Given the description of an element on the screen output the (x, y) to click on. 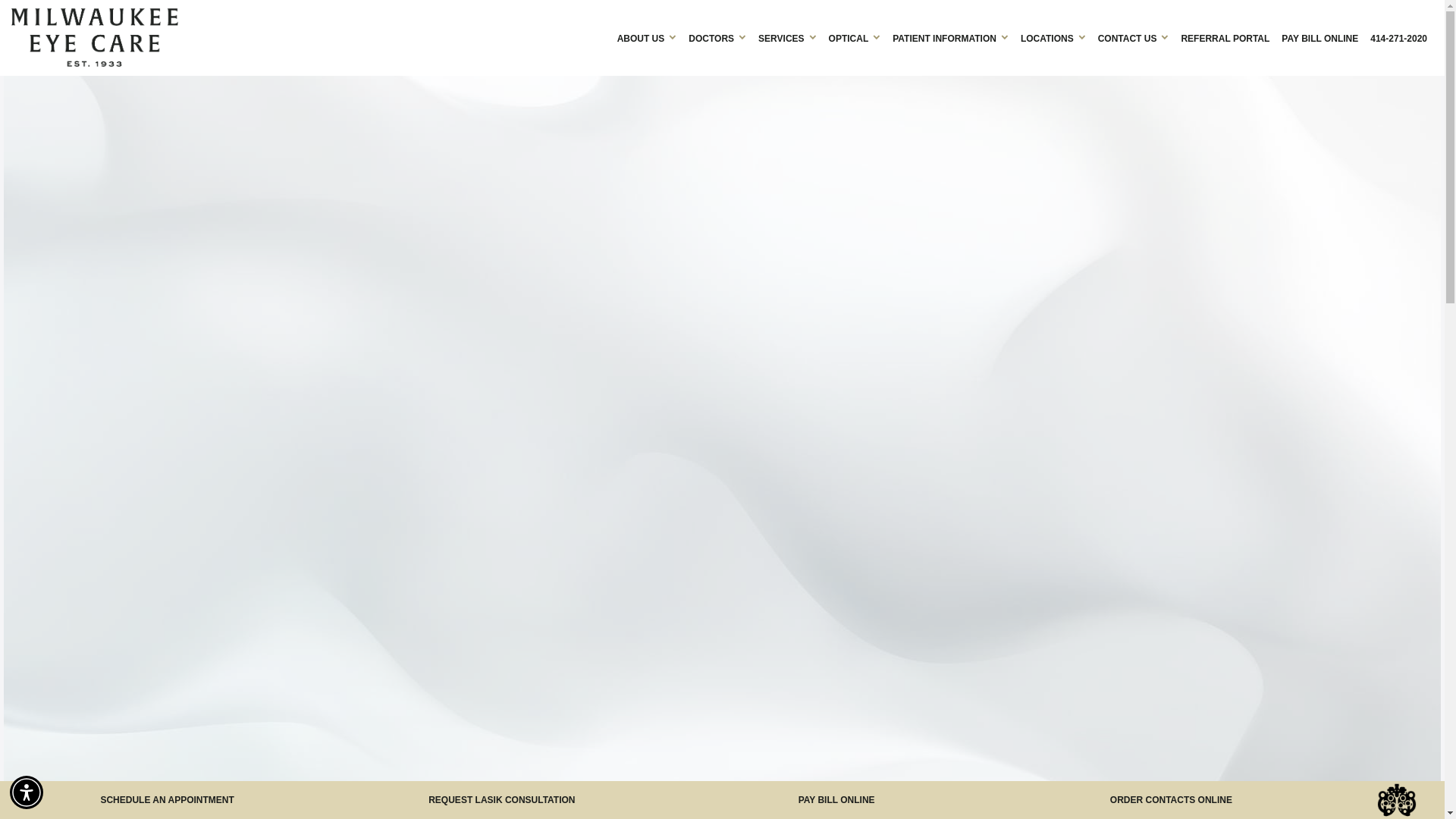
Doctors (717, 38)
Click Here for the Homepage (311, 37)
OPTICAL (854, 38)
ABOUT US (646, 38)
Accessibility Menu (26, 792)
Services (787, 38)
About Milwaukee Eye Care (646, 38)
PATIENT INFORMATION (950, 38)
SERVICES (787, 38)
DOCTORS (717, 38)
